Given the description of an element on the screen output the (x, y) to click on. 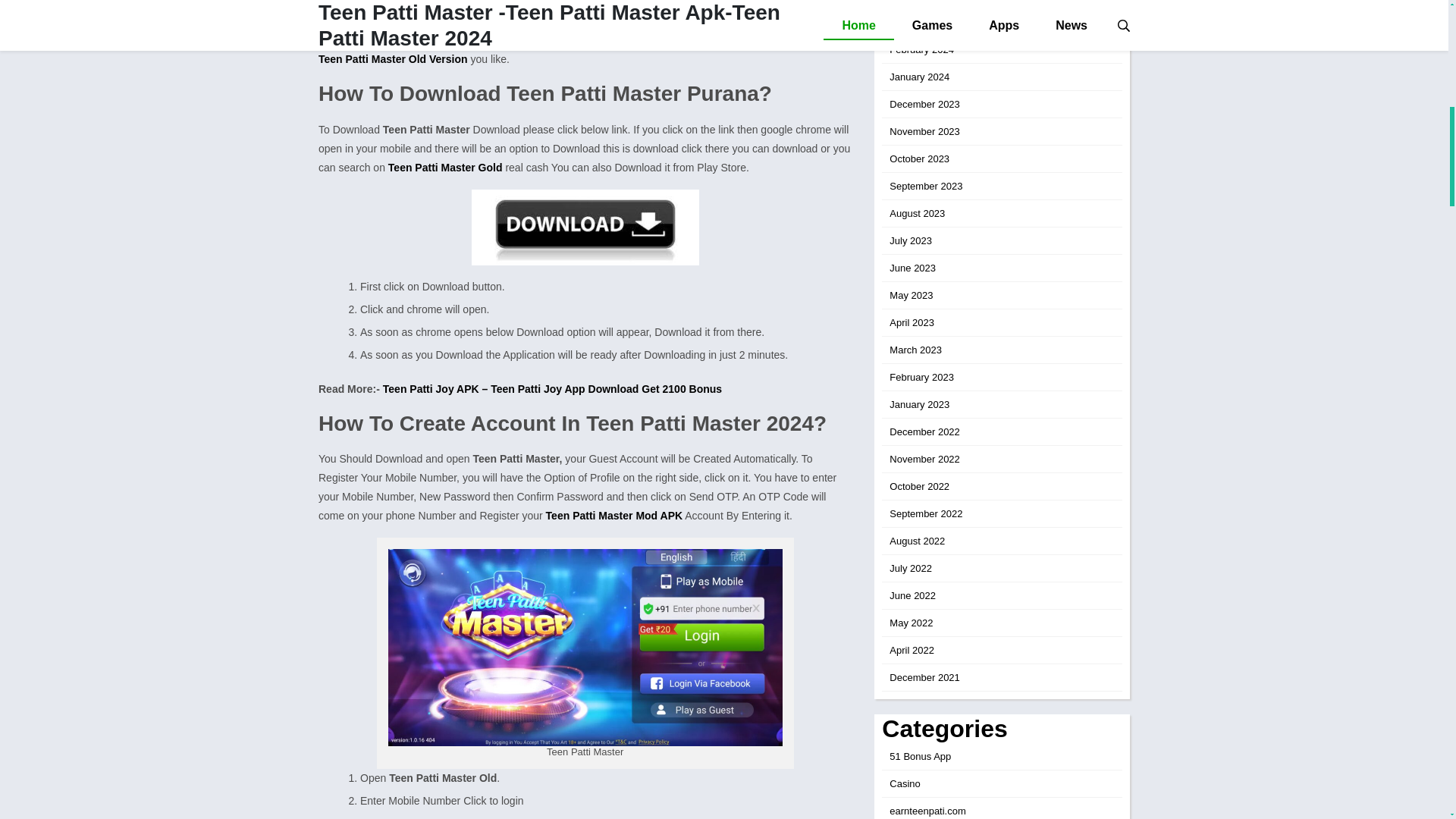
Teen Patti Master Mod APK (614, 515)
Teen Patti Master Old Version (392, 59)
Teen Patti Master Gold (445, 167)
